Given the description of an element on the screen output the (x, y) to click on. 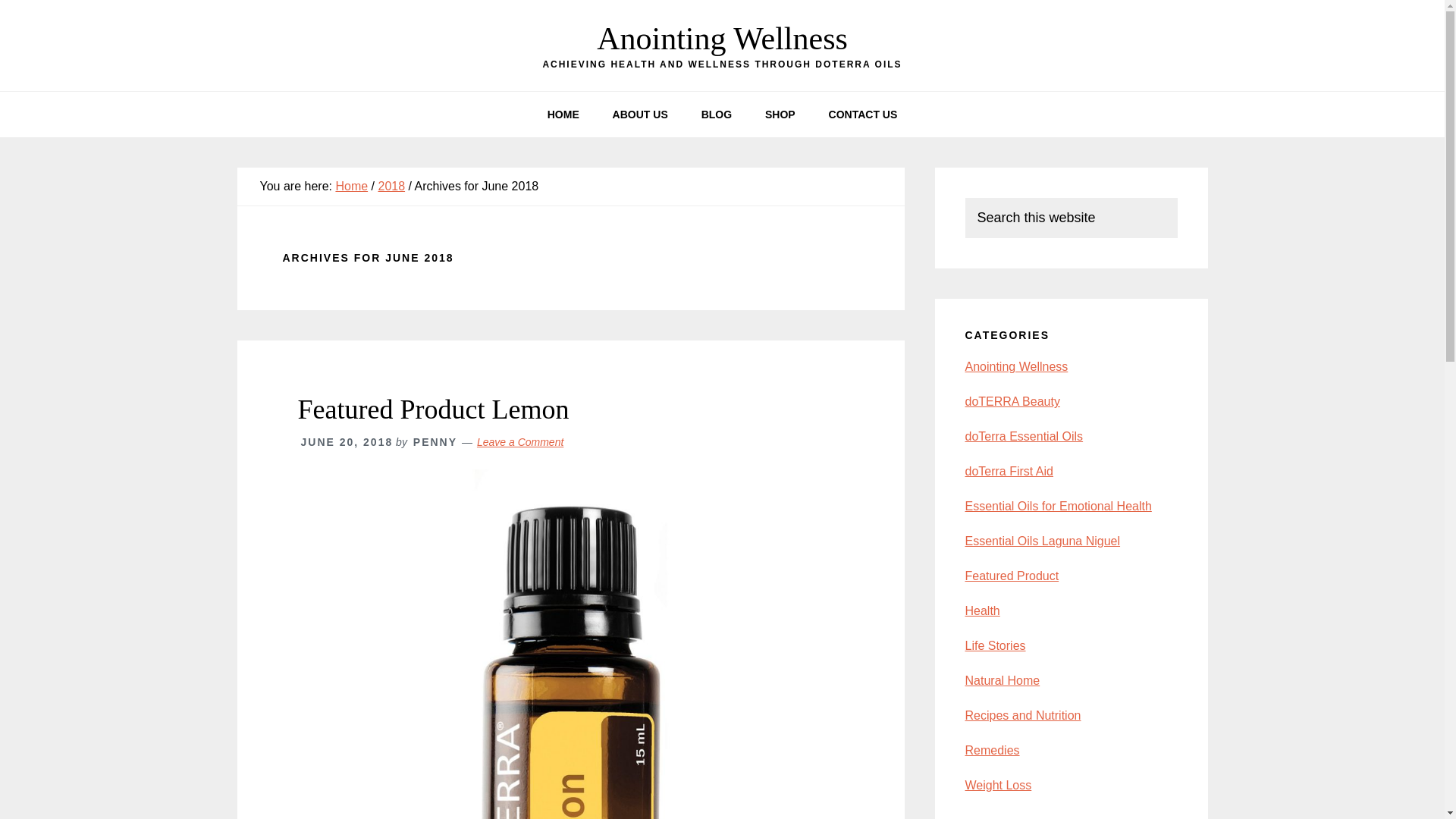
Recipes and Nutrition (1021, 715)
doTERRA Beauty (1011, 400)
Life Stories (994, 645)
Natural Home (1001, 680)
Home (351, 185)
Anointing Wellness (721, 38)
Featured Product Lemon (433, 409)
Anointing Wellness (1015, 366)
Health (980, 610)
SHOP (779, 114)
Weight Loss (996, 784)
HOME (563, 114)
